Given the description of an element on the screen output the (x, y) to click on. 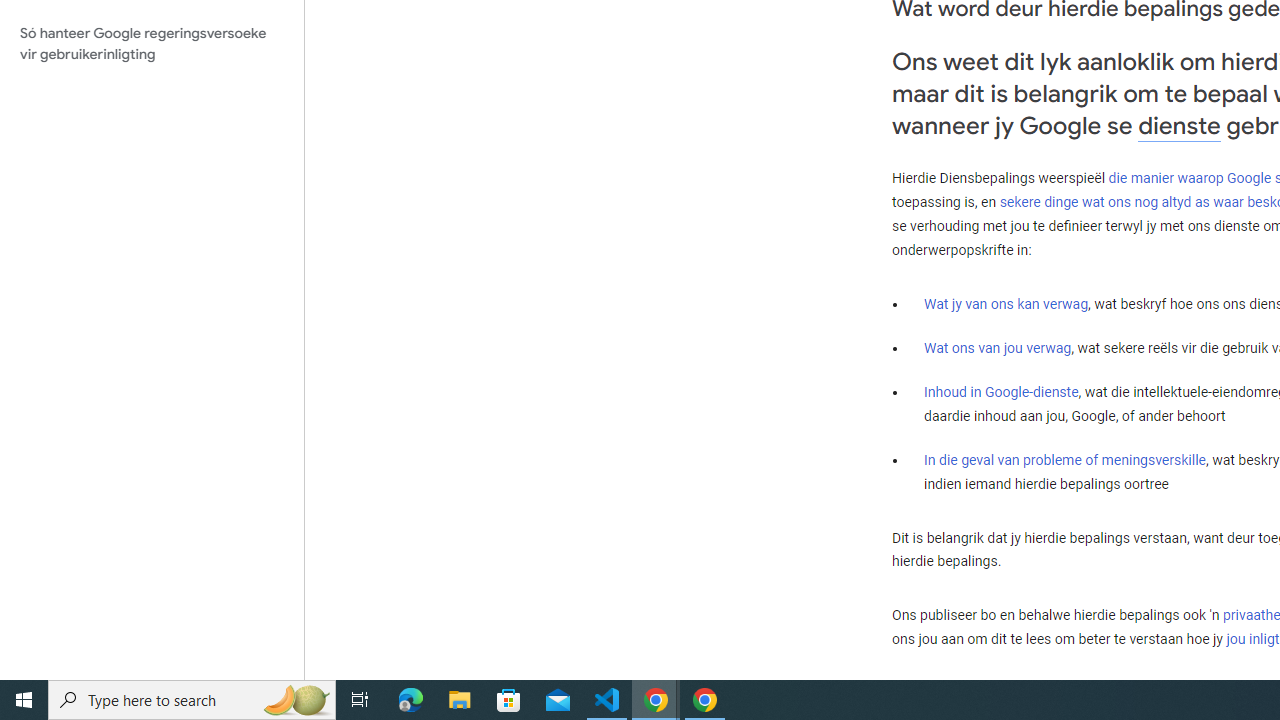
Wat ons van jou verwag (998, 348)
Inhoud in Google-dienste (1001, 392)
Wat jy van ons kan verwag (1006, 304)
In die geval van probleme of meningsverskille (1064, 459)
dienste (1179, 125)
